Given the description of an element on the screen output the (x, y) to click on. 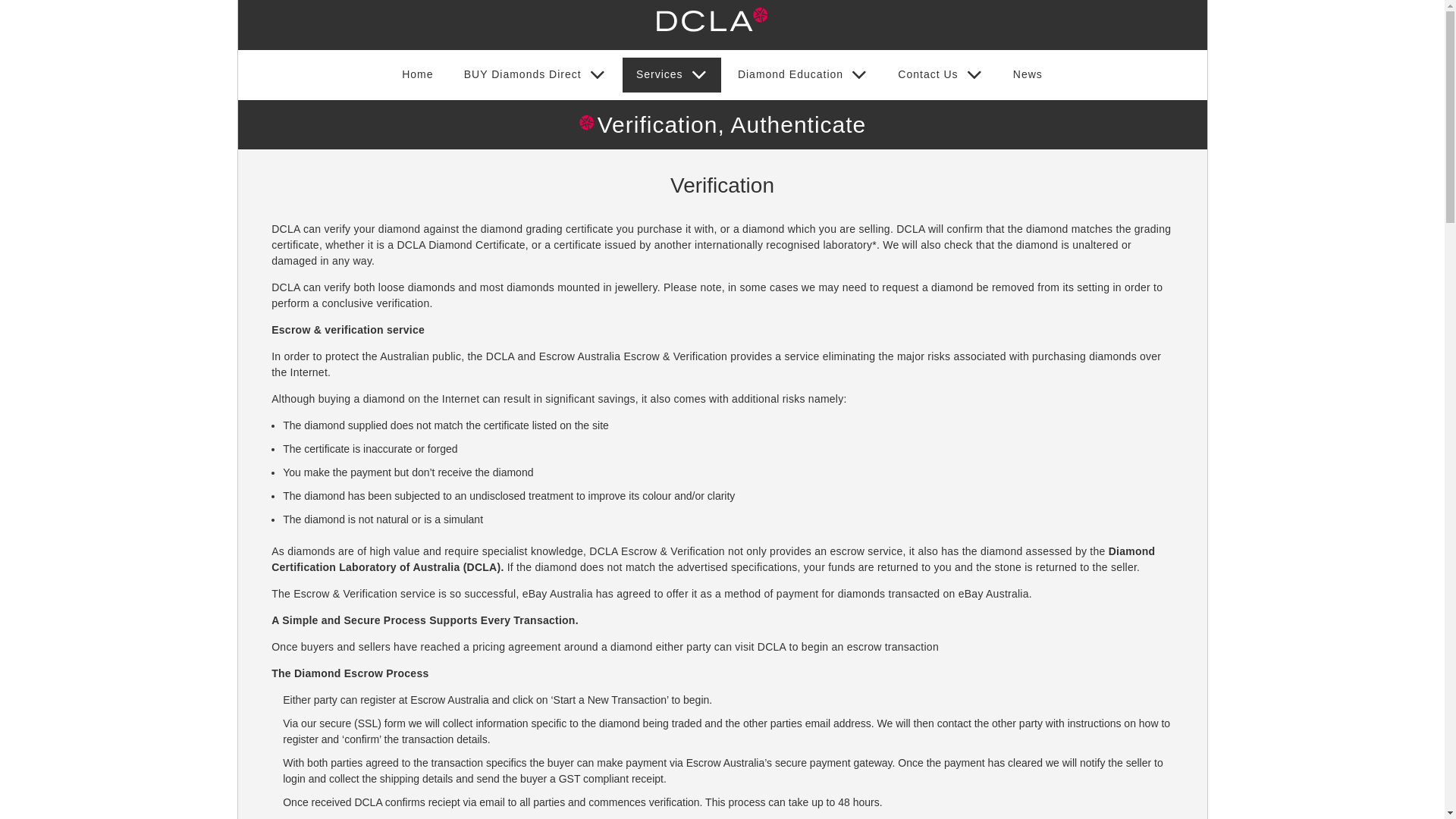
Diamond Certification Laboratory of Australia (DCLA).  Element type: text (712, 559)
News Element type: text (1027, 73)
Home Element type: text (417, 73)
BUY Diamonds Direct Element type: text (534, 74)
Services Element type: text (671, 74)
THE DIAMOND CERTIFICATION LABORATORY OF AUSTRALIA (DCLA) Element type: text (698, 76)
Diamond Education Element type: text (802, 74)
Contact Us Element type: text (940, 74)
